Given the description of an element on the screen output the (x, y) to click on. 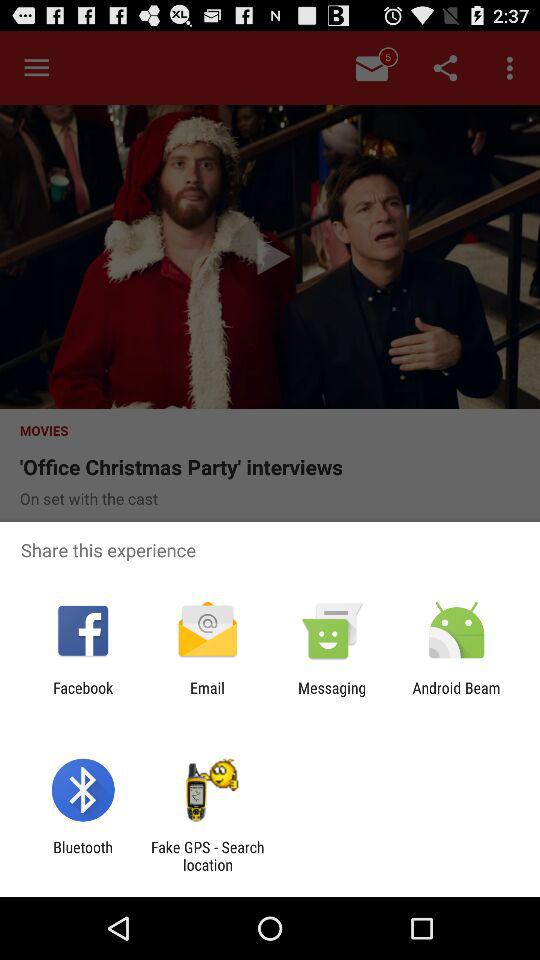
turn off the icon next to the android beam icon (332, 696)
